Given the description of an element on the screen output the (x, y) to click on. 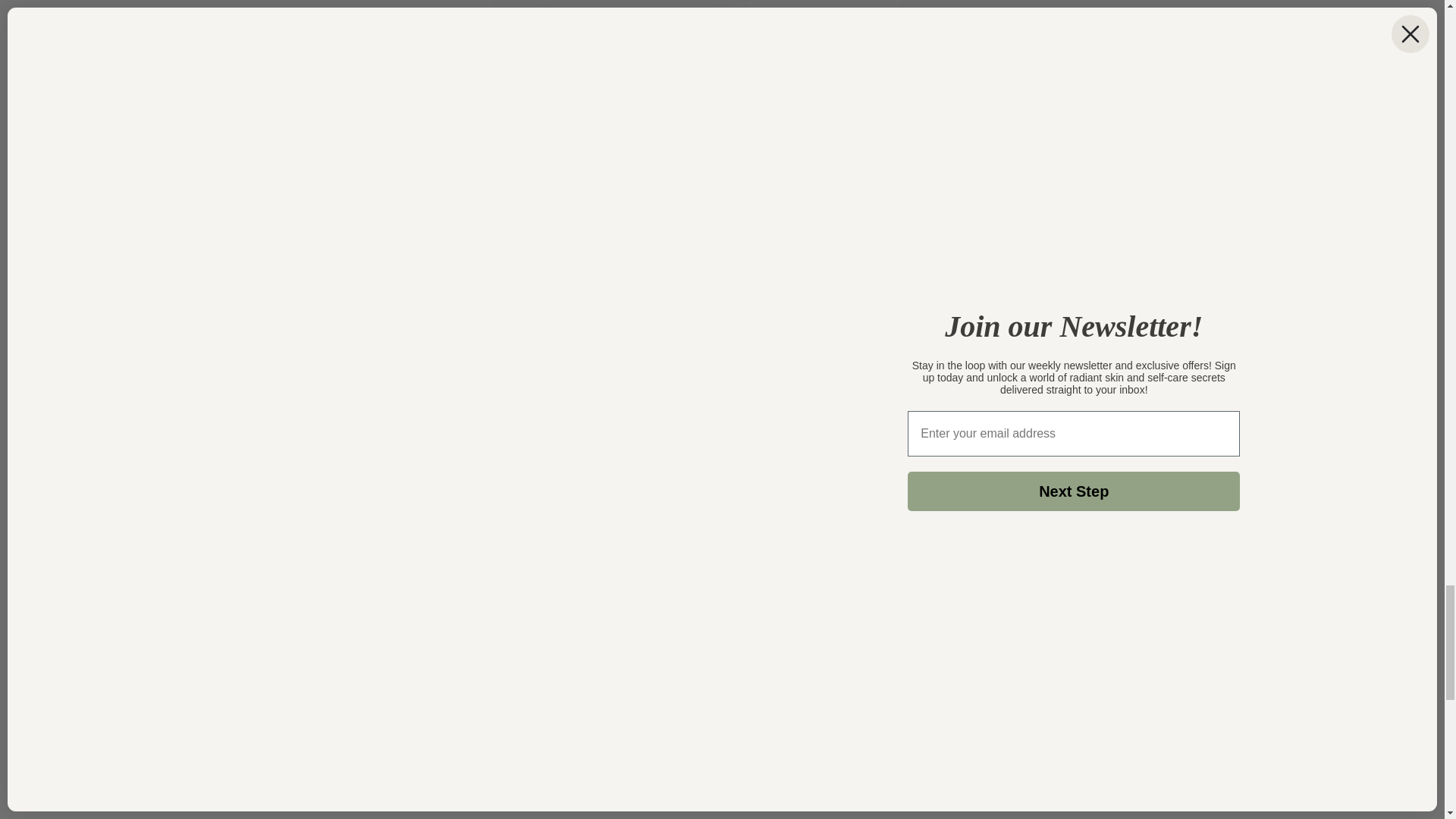
Explore More (239, 558)
